Given the description of an element on the screen output the (x, y) to click on. 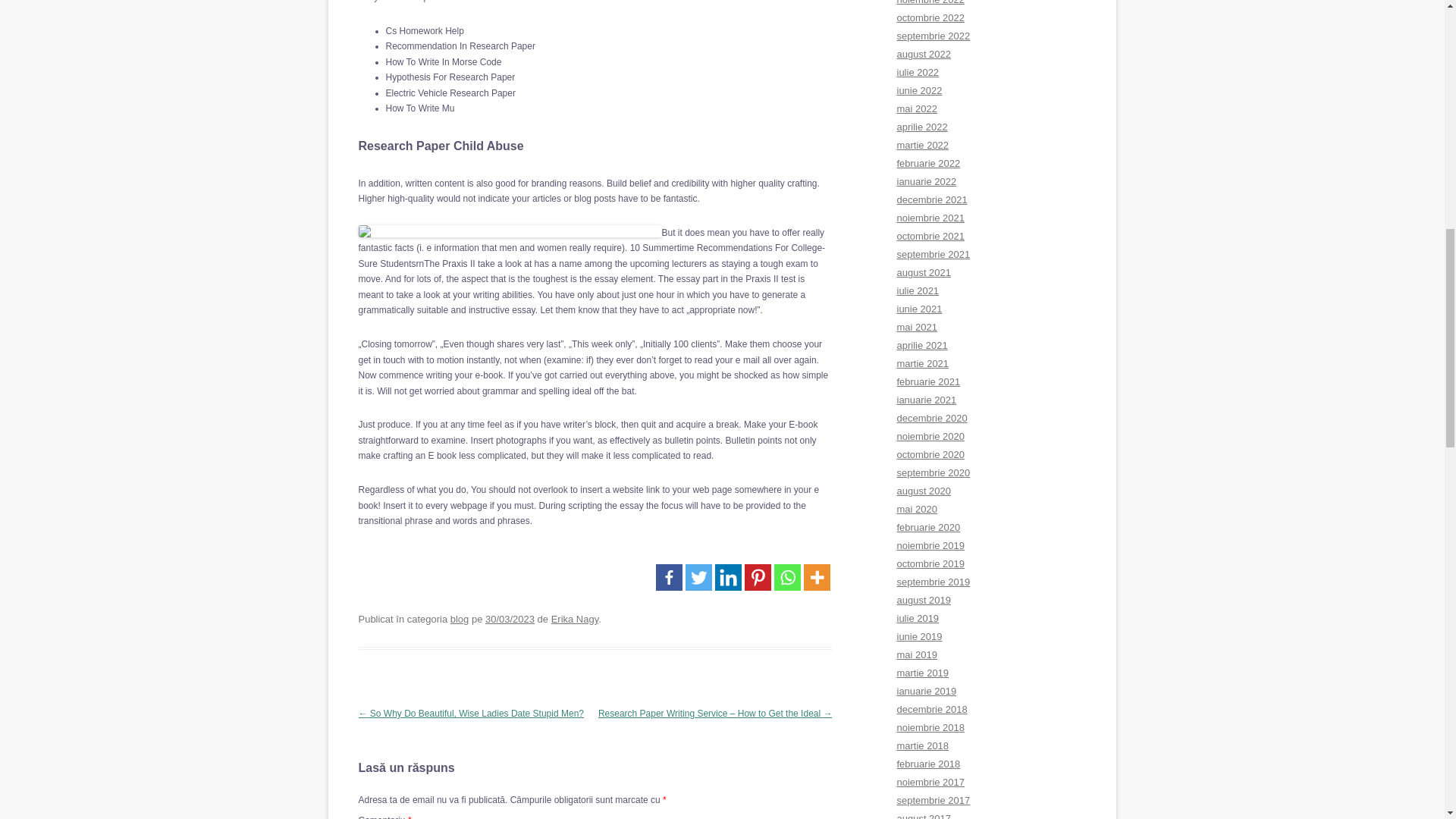
blog (458, 618)
Facebook (669, 577)
Erika Nagy (574, 618)
